Given the description of an element on the screen output the (x, y) to click on. 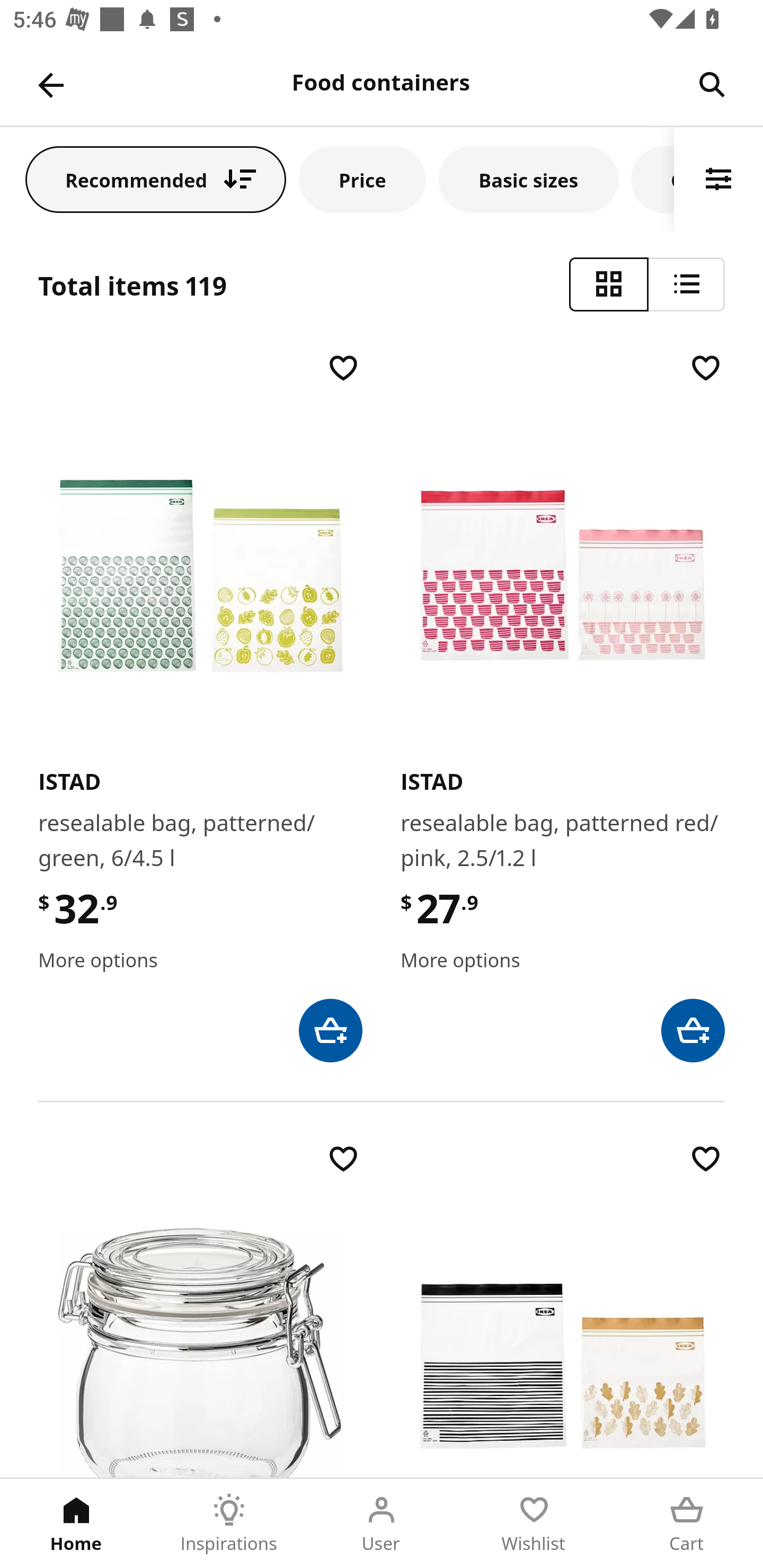
Recommended (155, 179)
Price (362, 179)
Basic sizes (528, 179)
Home
Tab 1 of 5 (76, 1522)
Inspirations
Tab 2 of 5 (228, 1522)
User
Tab 3 of 5 (381, 1522)
Wishlist
Tab 4 of 5 (533, 1522)
Cart
Tab 5 of 5 (686, 1522)
